Given the description of an element on the screen output the (x, y) to click on. 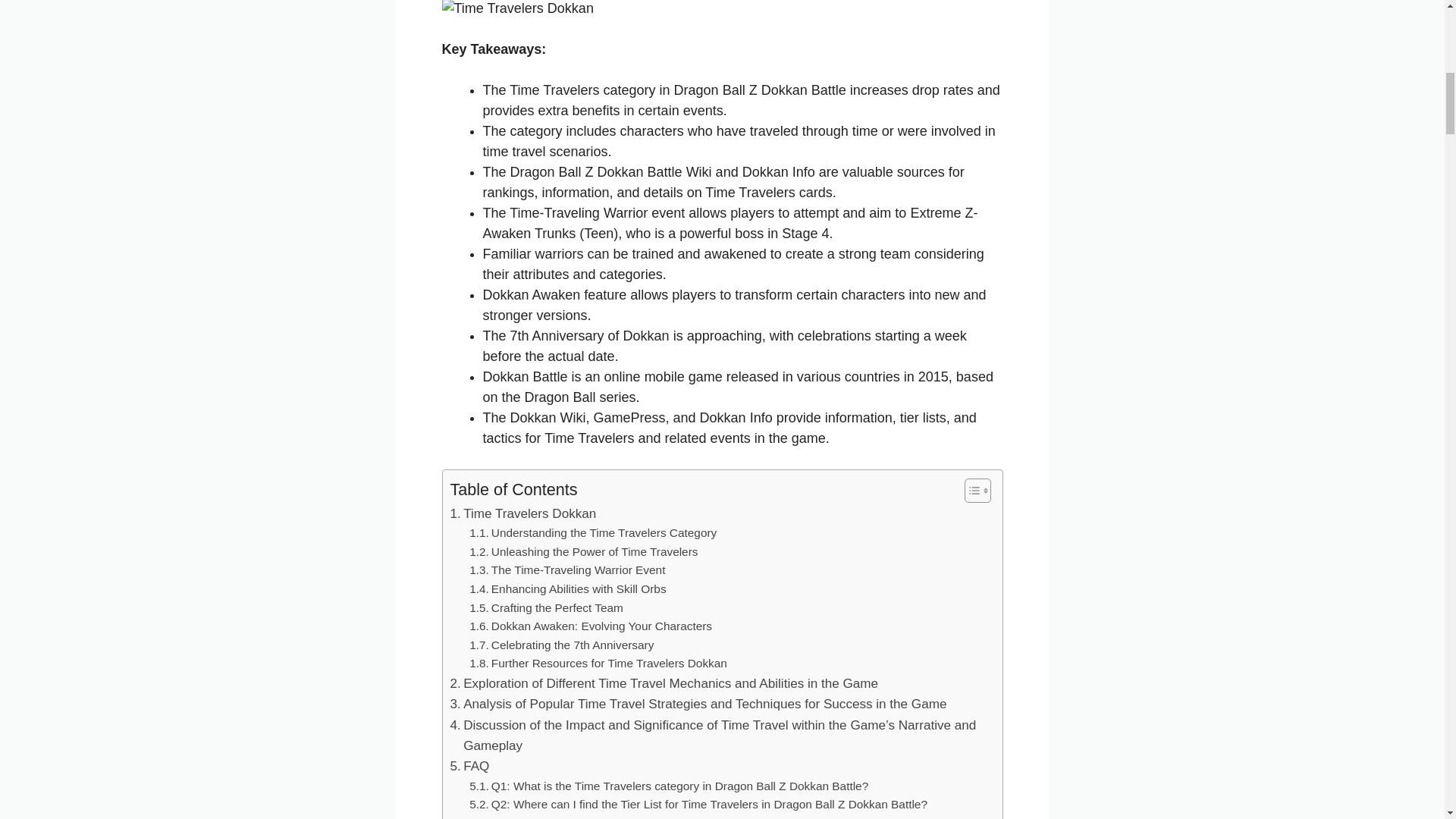
Further Resources for Time Travelers Dokkan (597, 663)
Time Travelers Dokkan (522, 513)
Journey Through Time With Time Travelers Dokkan 1 (516, 9)
Enhancing Abilities with Skill Orbs (566, 588)
Unleashing the Power of Time Travelers (582, 551)
Further Resources for Time Travelers Dokkan (597, 663)
The Time-Traveling Warrior Event (566, 570)
Dokkan Awaken: Evolving Your Characters (589, 626)
Time Travelers Dokkan (522, 513)
Enhancing Abilities with Skill Orbs (566, 588)
Crafting the Perfect Team (545, 608)
Unleashing the Power of Time Travelers (582, 551)
Celebrating the 7th Anniversary (560, 645)
The Time-Traveling Warrior Event (566, 570)
